Given the description of an element on the screen output the (x, y) to click on. 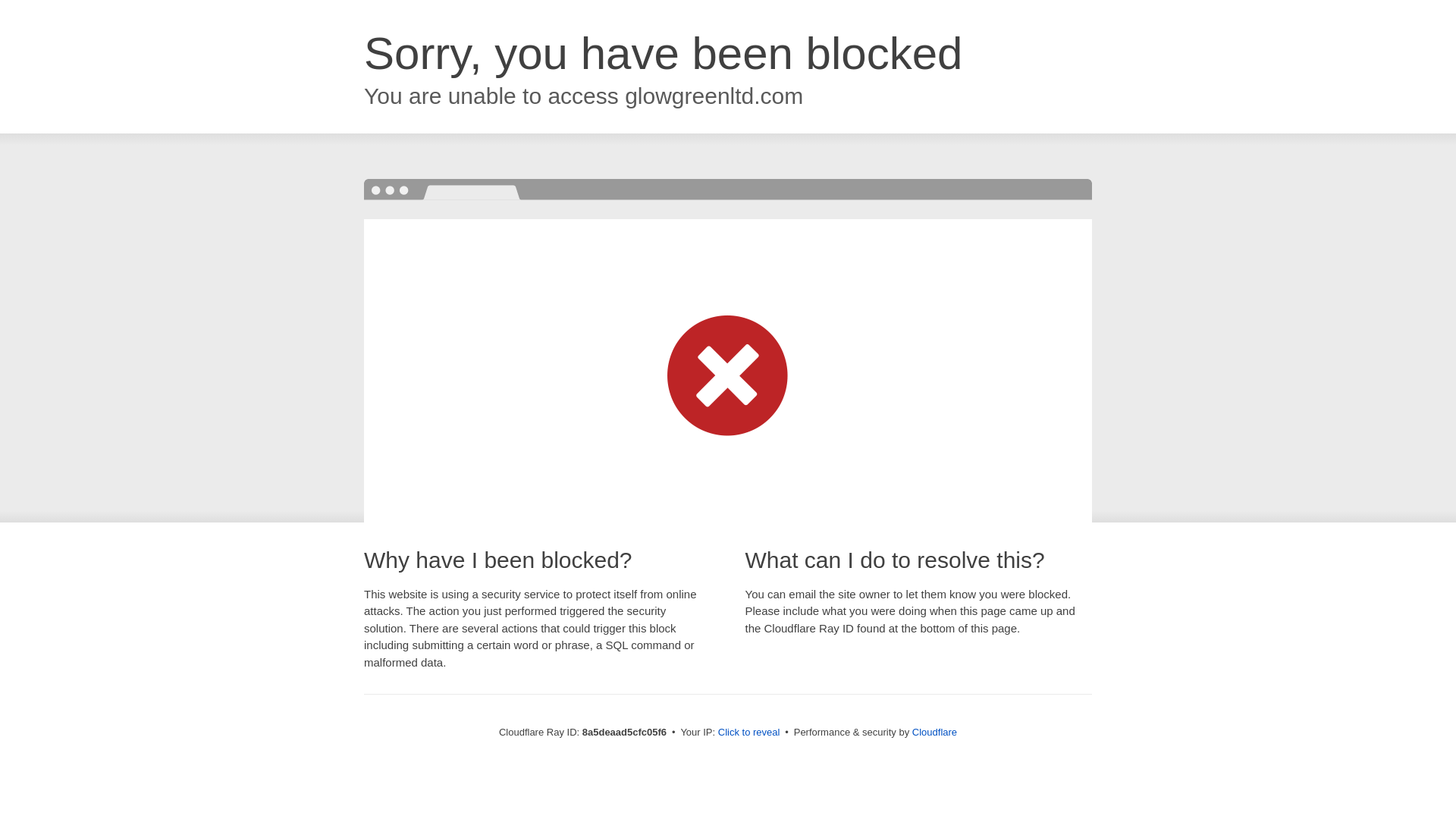
Cloudflare (934, 731)
Click to reveal (748, 732)
